Given the description of an element on the screen output the (x, y) to click on. 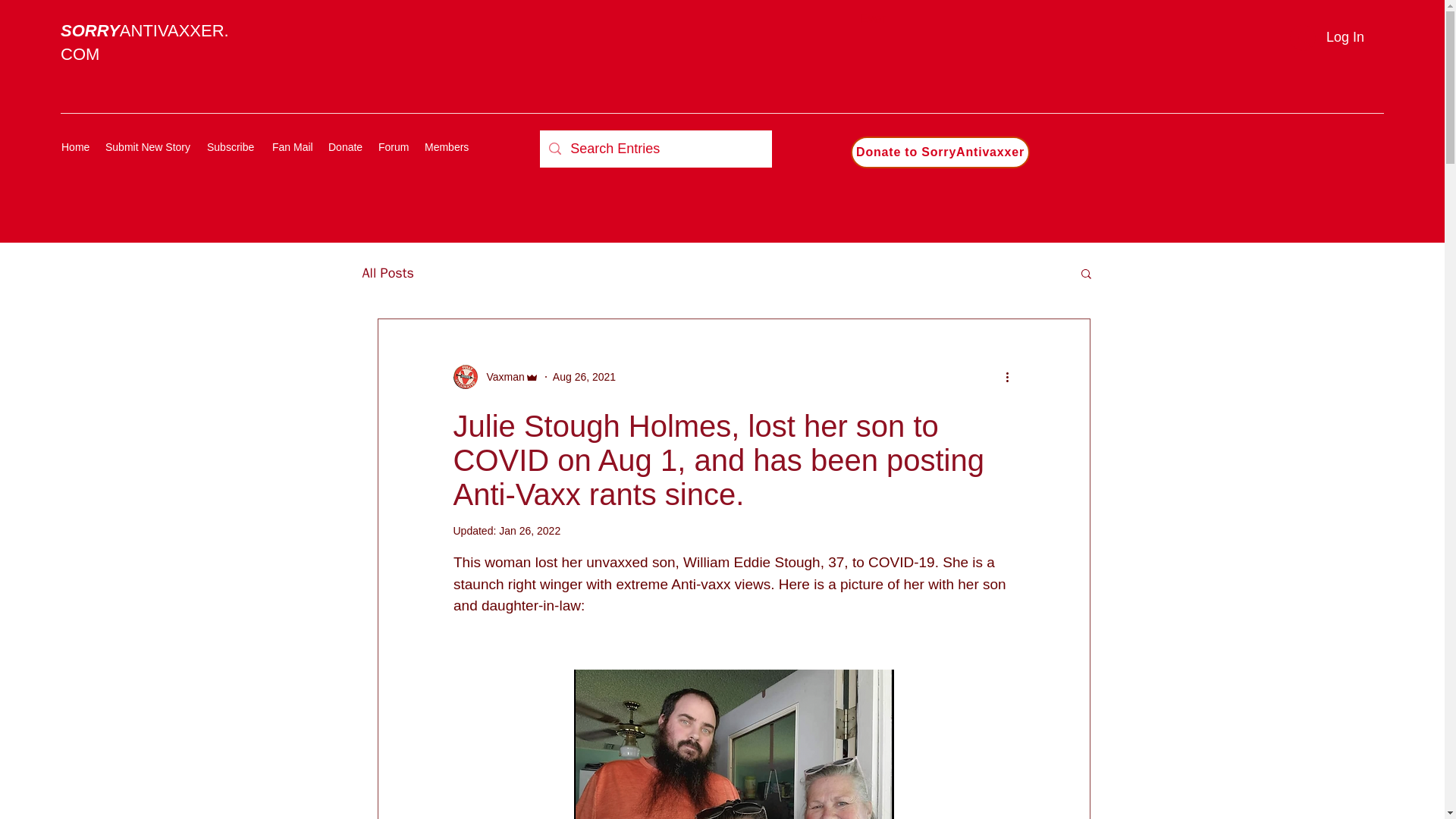
Forum (393, 147)
Members (447, 147)
Vaxman (495, 376)
Log In (1326, 36)
All Posts (387, 272)
Fan Mail (292, 147)
Home (75, 147)
Donate to SorryAntivaxxer (939, 152)
Subscribe (231, 147)
Submit New Story (148, 147)
